Given the description of an element on the screen output the (x, y) to click on. 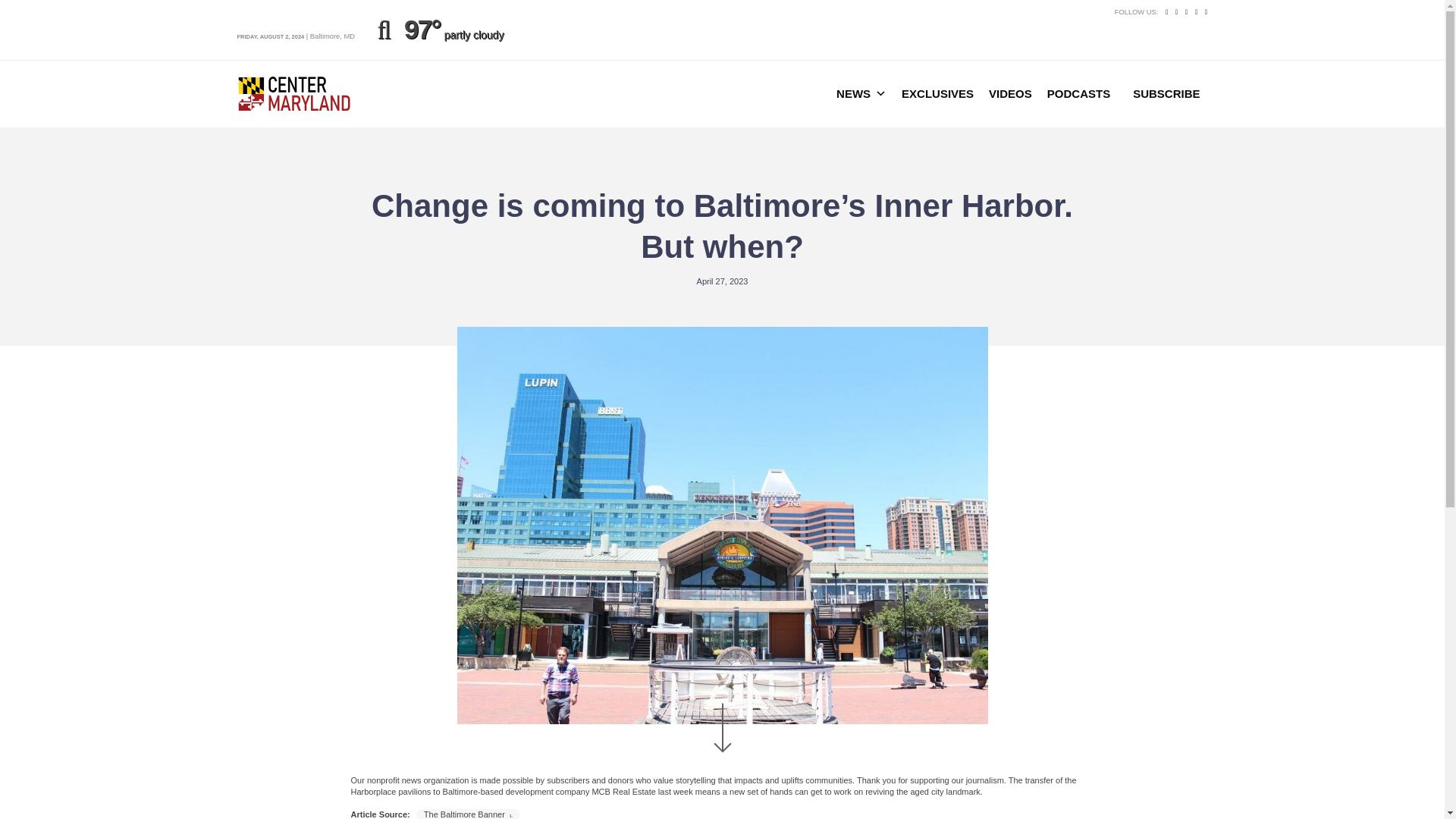
SUBSCRIBE (1166, 93)
VIDEOS (1010, 93)
NEWS (860, 93)
PODCASTS (1078, 93)
EXCLUSIVES (937, 93)
The Baltimore Banner (467, 814)
